Given the description of an element on the screen output the (x, y) to click on. 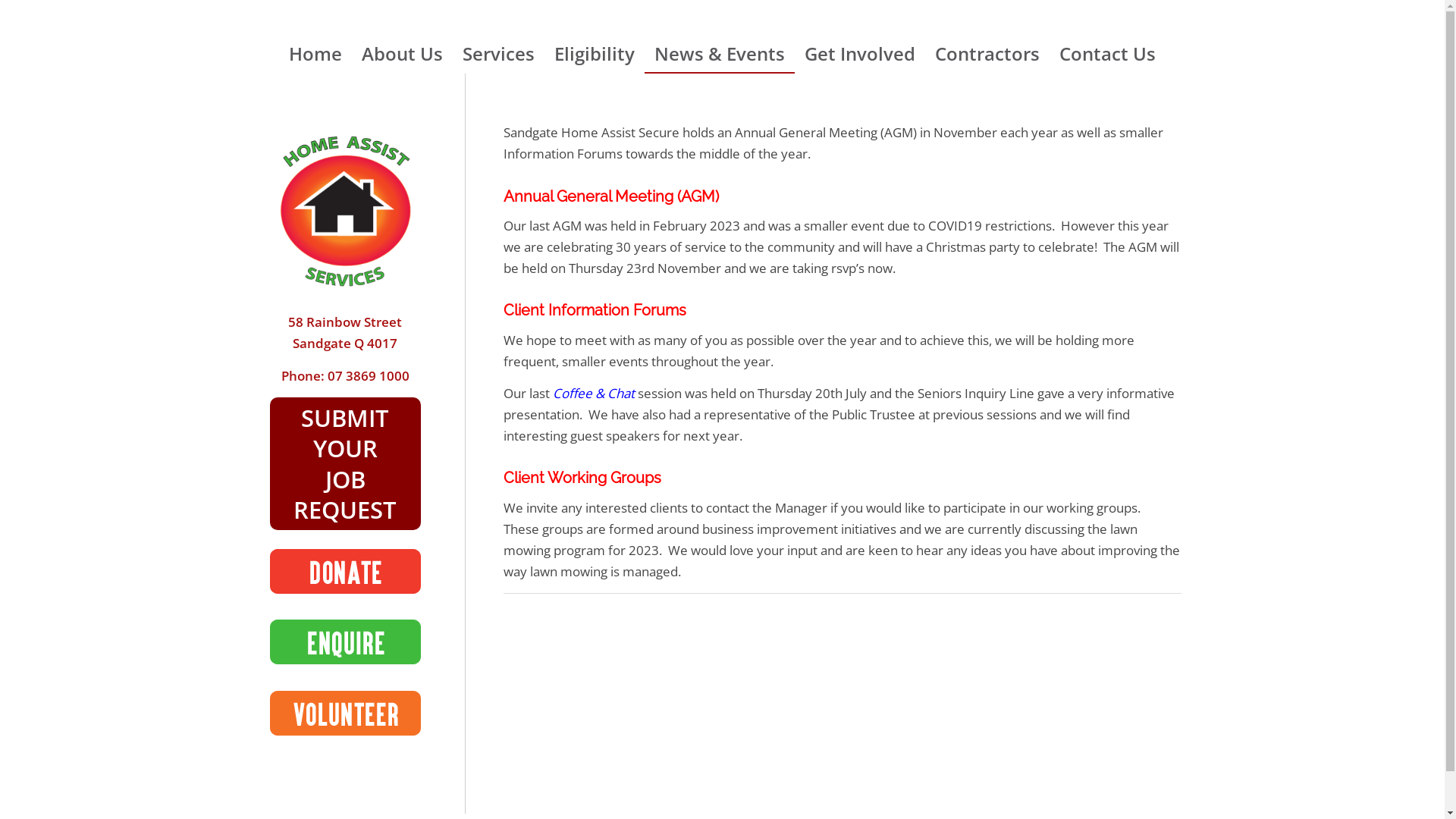
SUBMIT YOUR
JOB REQUEST Element type: text (344, 463)
Services Element type: text (498, 53)
Eligibility Element type: text (594, 53)
Get Involved Element type: text (859, 53)
News & Events Element type: text (719, 53)
Contractors Element type: text (987, 53)
Contact Us Element type: text (1107, 53)
About Us Element type: text (401, 53)
Home Element type: text (315, 53)
